Given the description of an element on the screen output the (x, y) to click on. 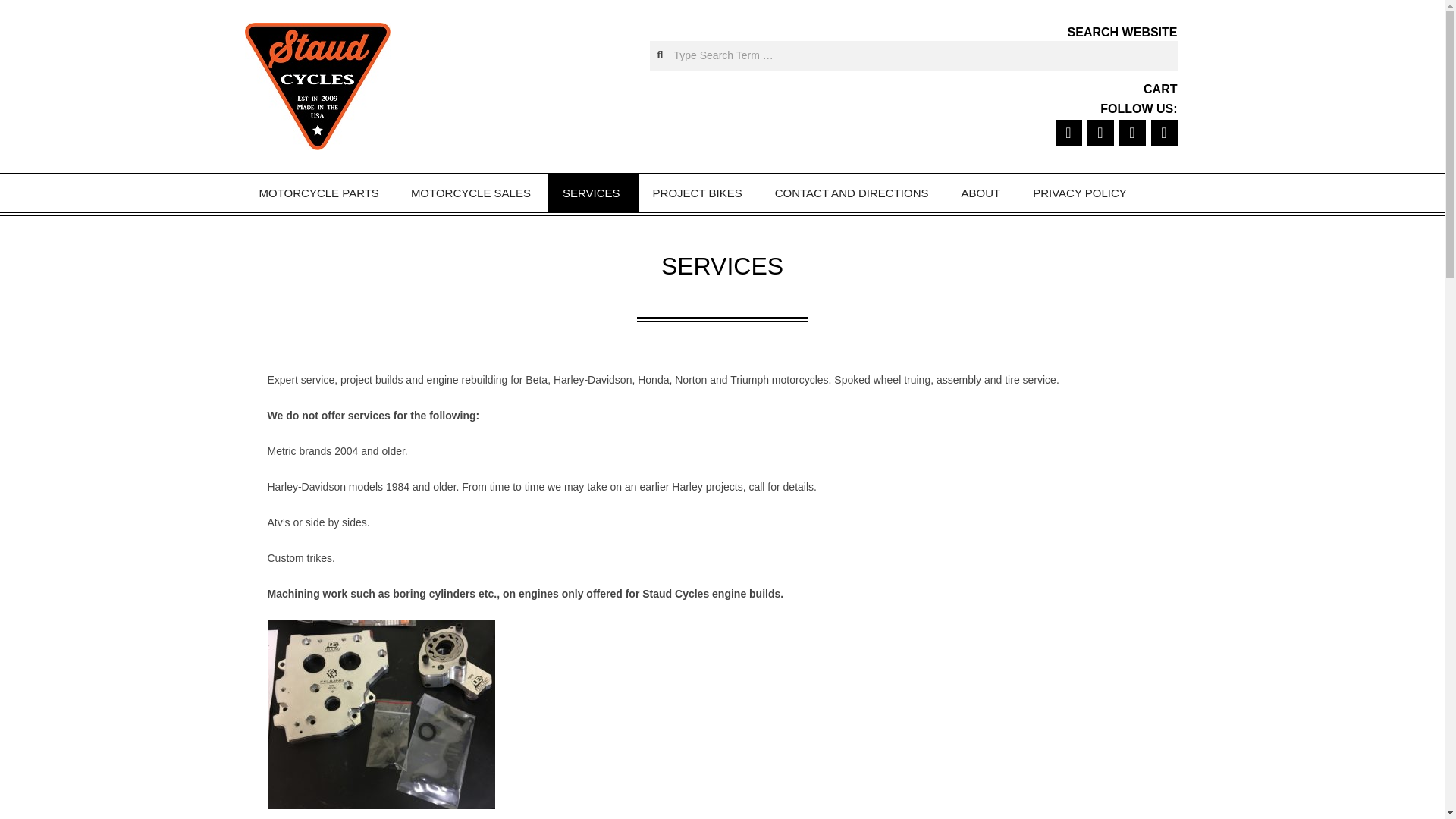
MOTORCYCLE PARTS (320, 192)
SERVICES (593, 192)
ABOUT (981, 192)
MOTORCYCLE SALES (472, 192)
PROJECT BIKES (699, 192)
CONTACT AND DIRECTIONS (853, 192)
PRIVACY POLICY (1080, 192)
